Given the description of an element on the screen output the (x, y) to click on. 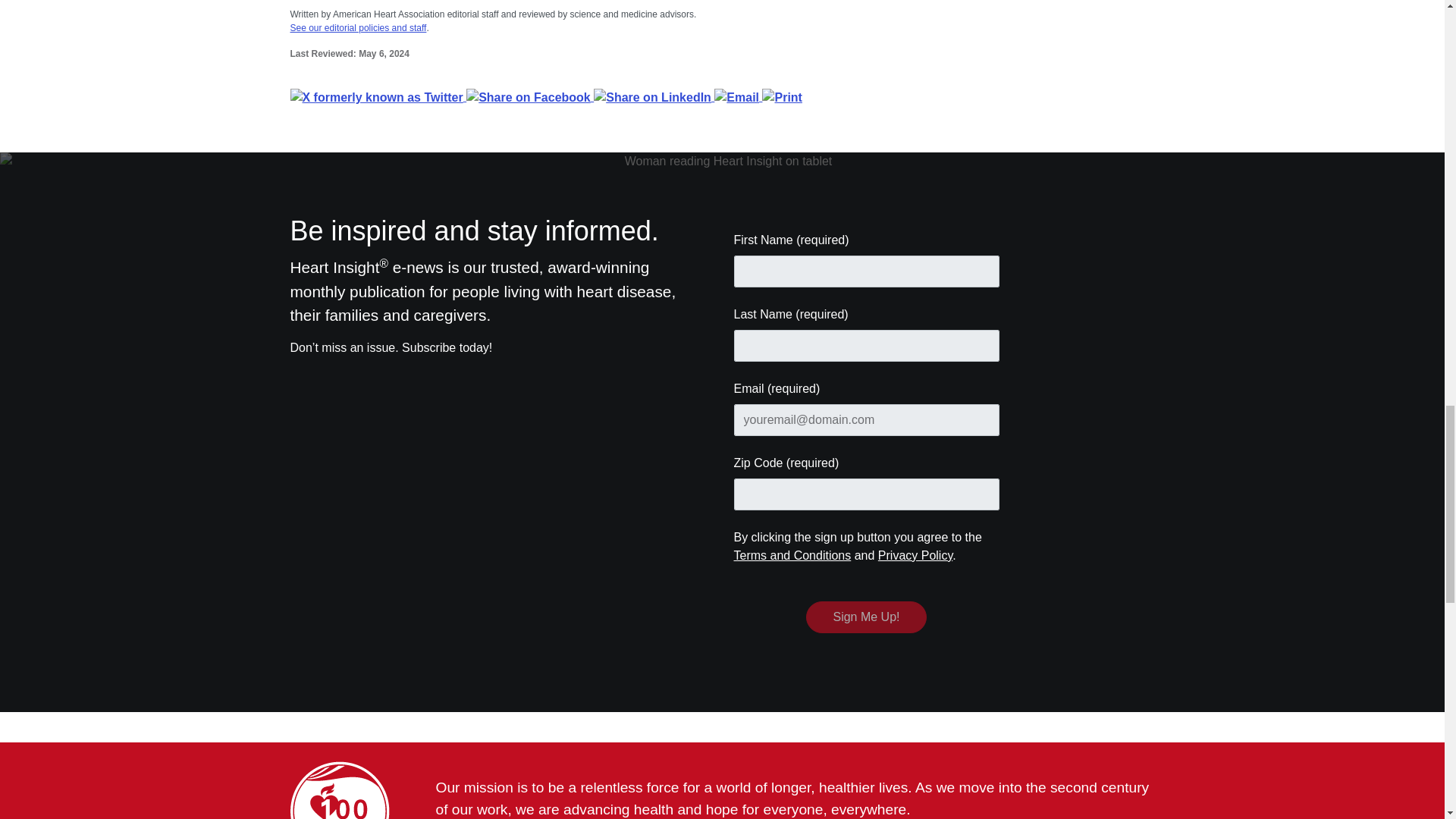
Facebook (529, 96)
See our editorial policies and staff (357, 27)
Print (781, 96)
Email (737, 96)
LinkedIn (654, 96)
X formerly known as Twitter (377, 96)
Sign Me Up! (866, 617)
